Given the description of an element on the screen output the (x, y) to click on. 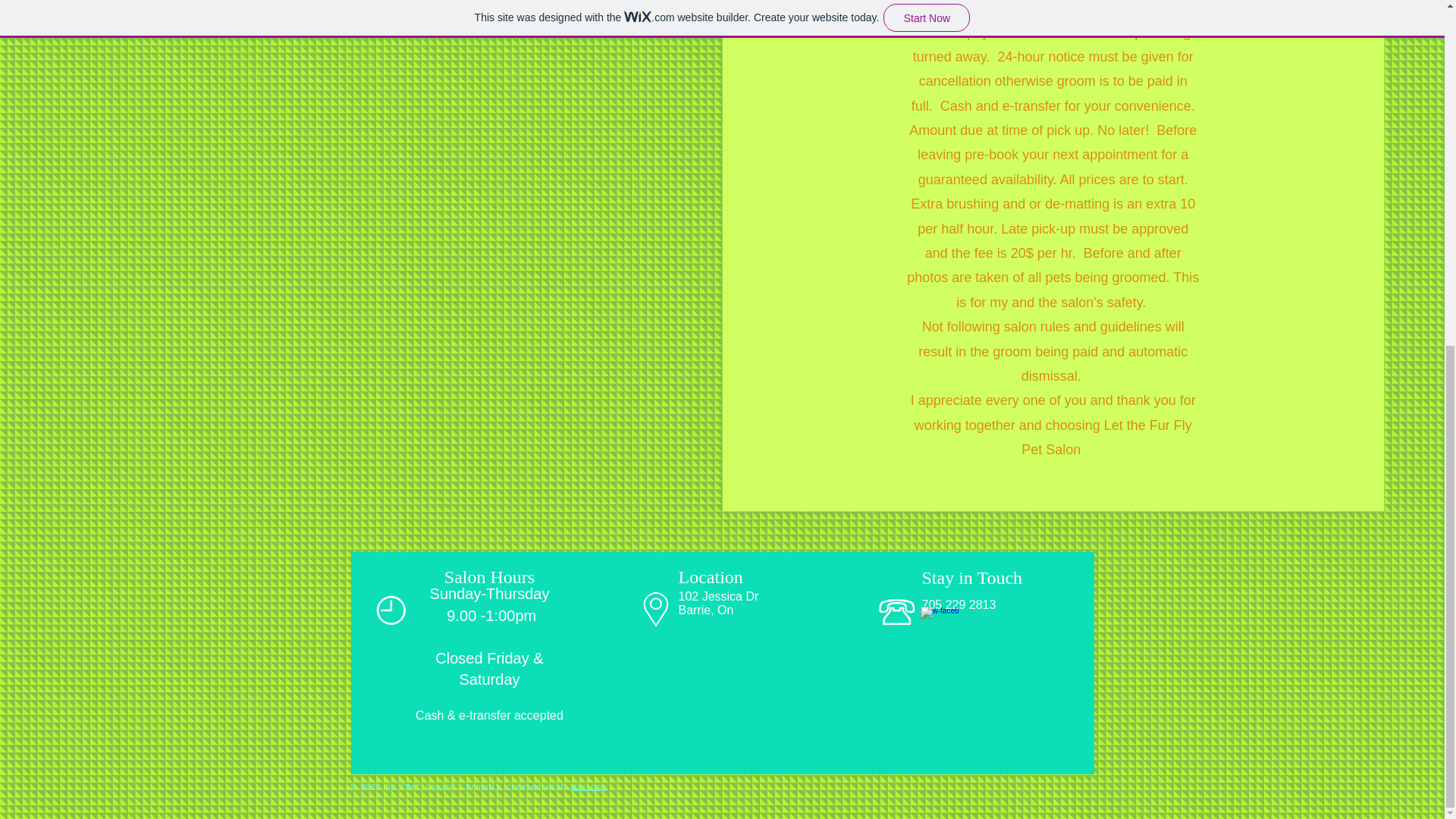
Wix.com (587, 786)
